Given the description of an element on the screen output the (x, y) to click on. 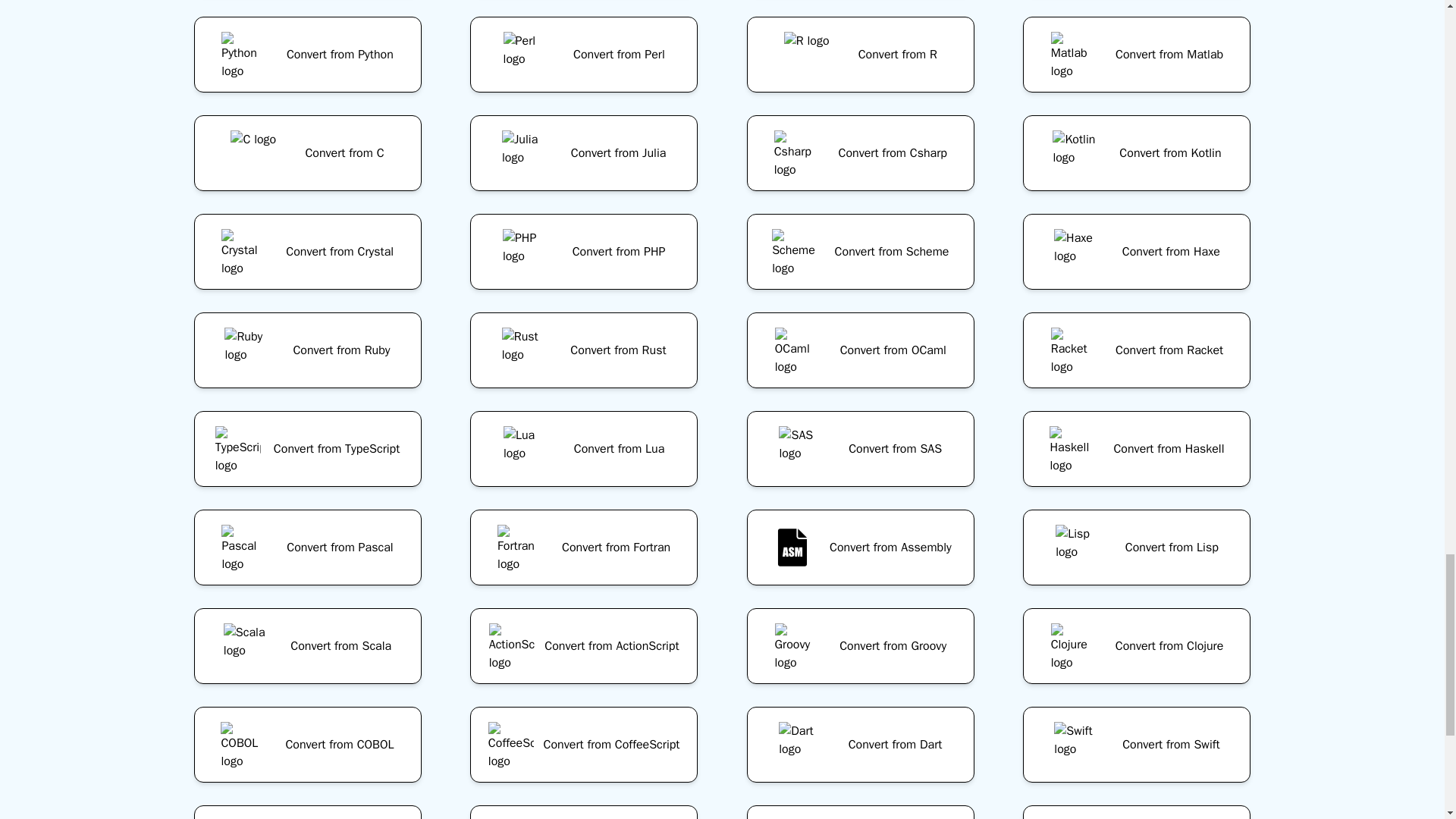
Convert from Fortran (583, 547)
Convert from Crystal (307, 251)
Convert from Pascal (307, 547)
Convert from Swift (1136, 744)
Convert from Matlab (1136, 54)
Convert from C (307, 153)
Convert from Csharp (860, 153)
Convert from Clojure (1136, 646)
Convert from Rust (583, 350)
Convert from Golang (583, 2)
Convert from TypeScript (307, 448)
Convert from Racket (1136, 350)
Convert from COBOL (307, 744)
Convert from Haxe (1136, 251)
Convert from Haskell (1136, 448)
